Given the description of an element on the screen output the (x, y) to click on. 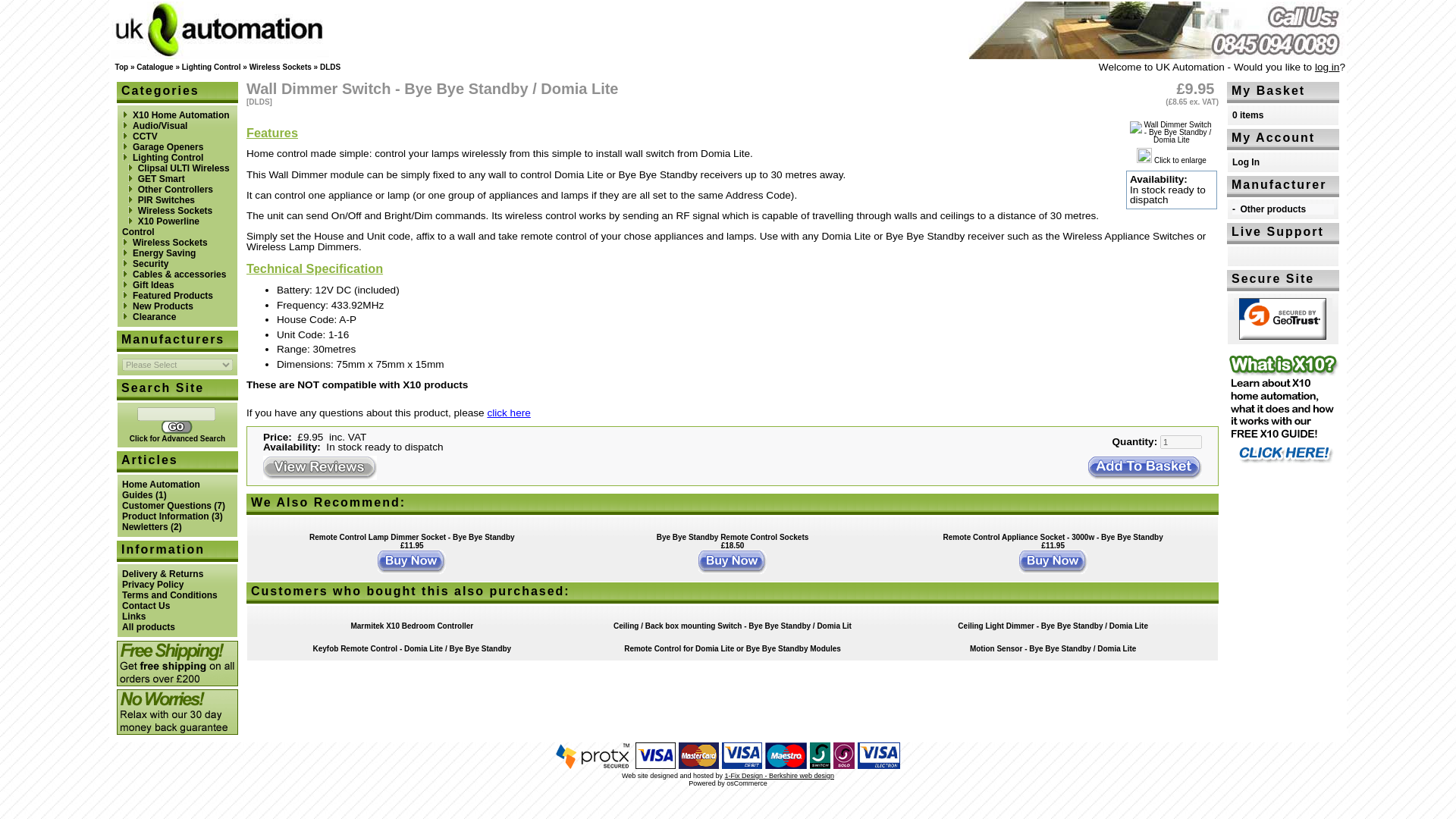
Featured Products (172, 295)
PIR Switches (166, 199)
X10 Home Automation (181, 114)
Wireless Sockets (170, 242)
CCTV (144, 136)
Privacy Policy (152, 584)
Newletters (145, 526)
Catalogue (154, 67)
New Products (162, 306)
 Add to Basket  (1144, 467)
GET Smart (161, 178)
Wireless Sockets (175, 210)
Click for Advanced Search (177, 438)
Security (150, 263)
